Given the description of an element on the screen output the (x, y) to click on. 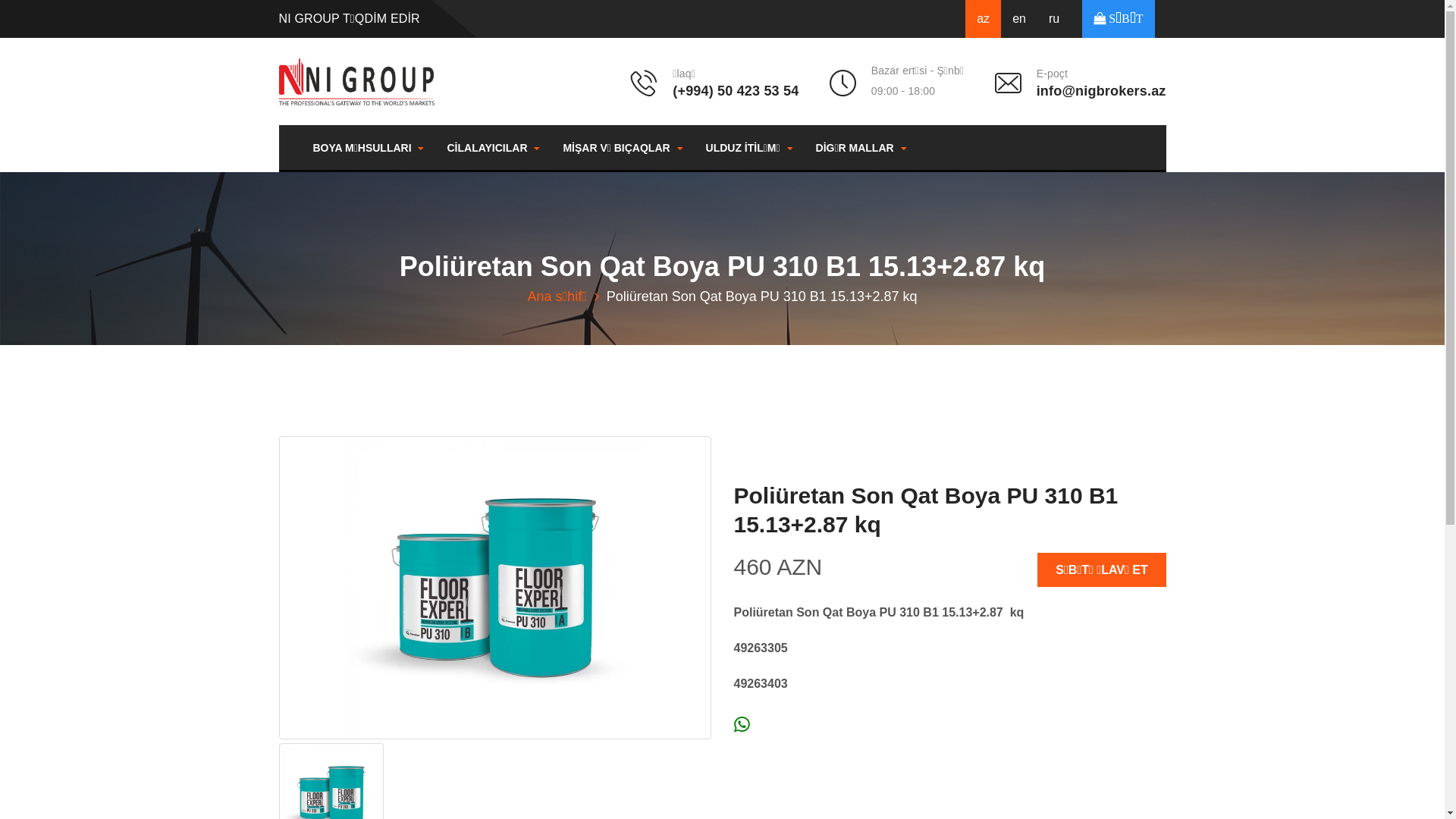
az Element type: text (983, 18)
ru Element type: text (1053, 18)
en Element type: text (1019, 18)
